Given the description of an element on the screen output the (x, y) to click on. 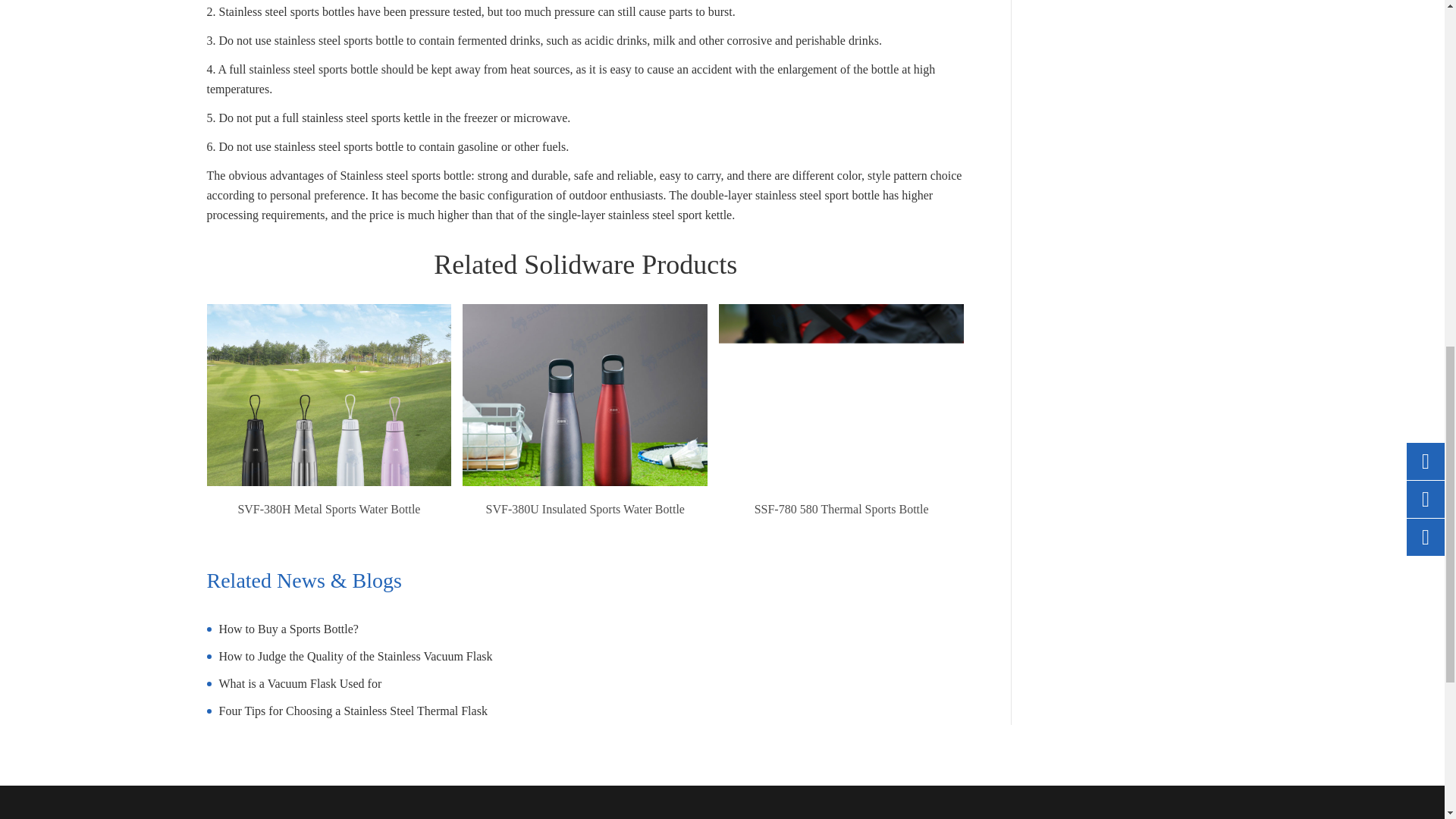
SVF-380U Insulated Sports Water Bottle (585, 425)
SVF-380H Metal Sports Water Bottle (328, 425)
SSF-780 580 Thermal Sports Bottle (841, 425)
